Given the description of an element on the screen output the (x, y) to click on. 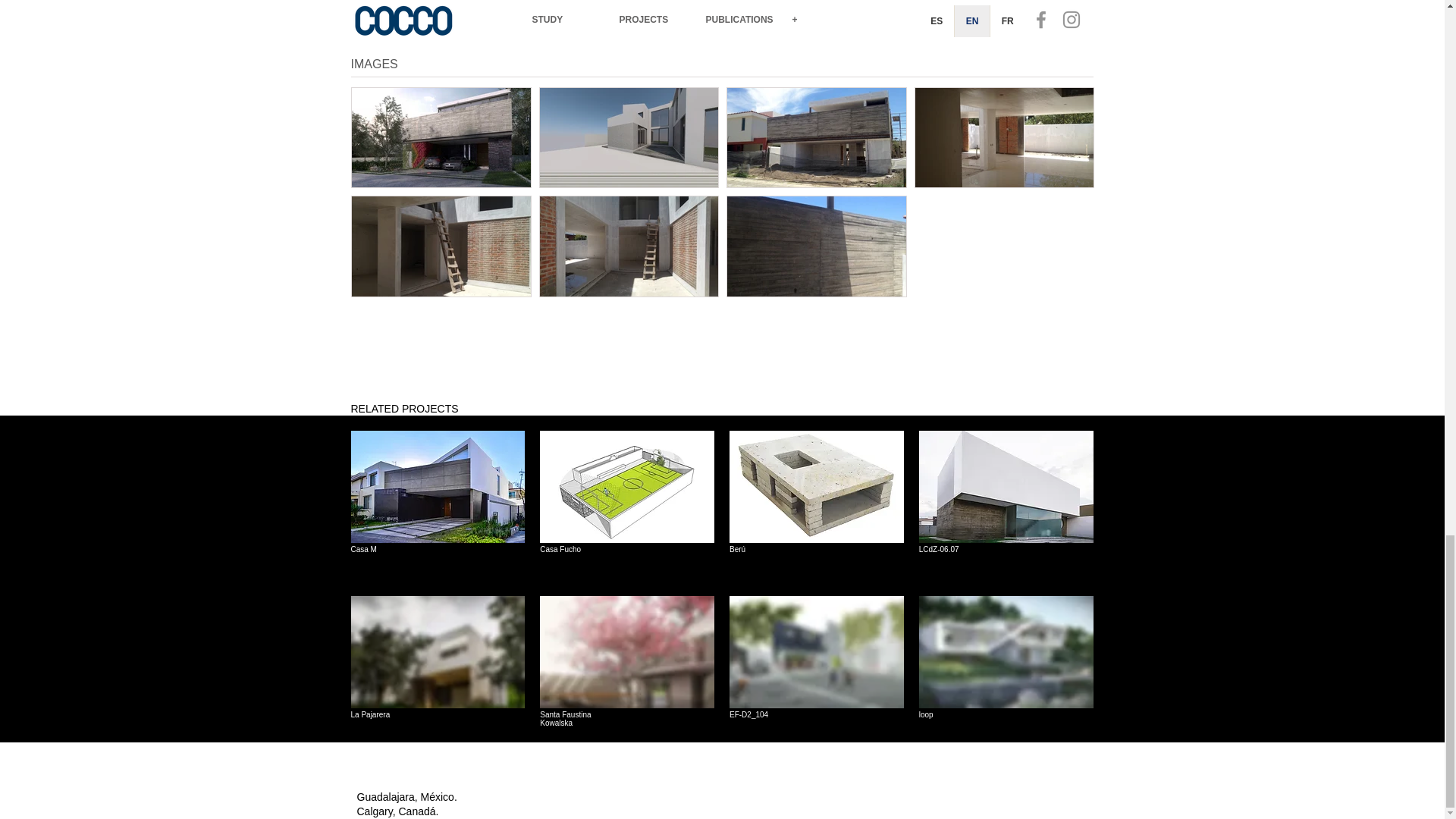
LCdZ-06.07 (1005, 505)
La Pajarera (437, 671)
Casa Fucho (627, 671)
Casa M (627, 505)
